Given the description of an element on the screen output the (x, y) to click on. 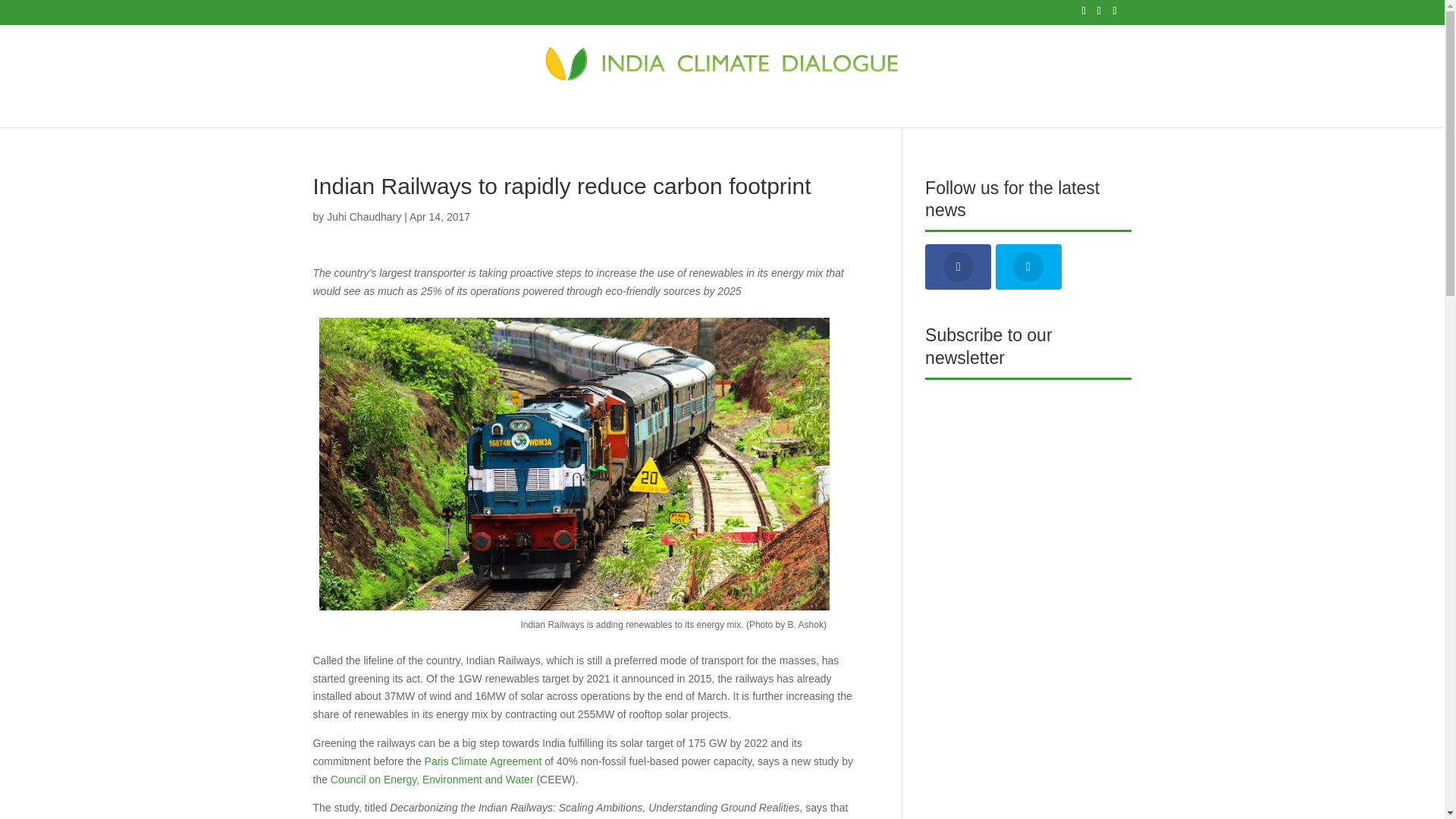
Paris Climate Agreement (483, 761)
Posts by Juhi Chaudhary (363, 216)
Juhi Chaudhary (363, 216)
Council on Energy, Environment and Water (432, 779)
